Given the description of an element on the screen output the (x, y) to click on. 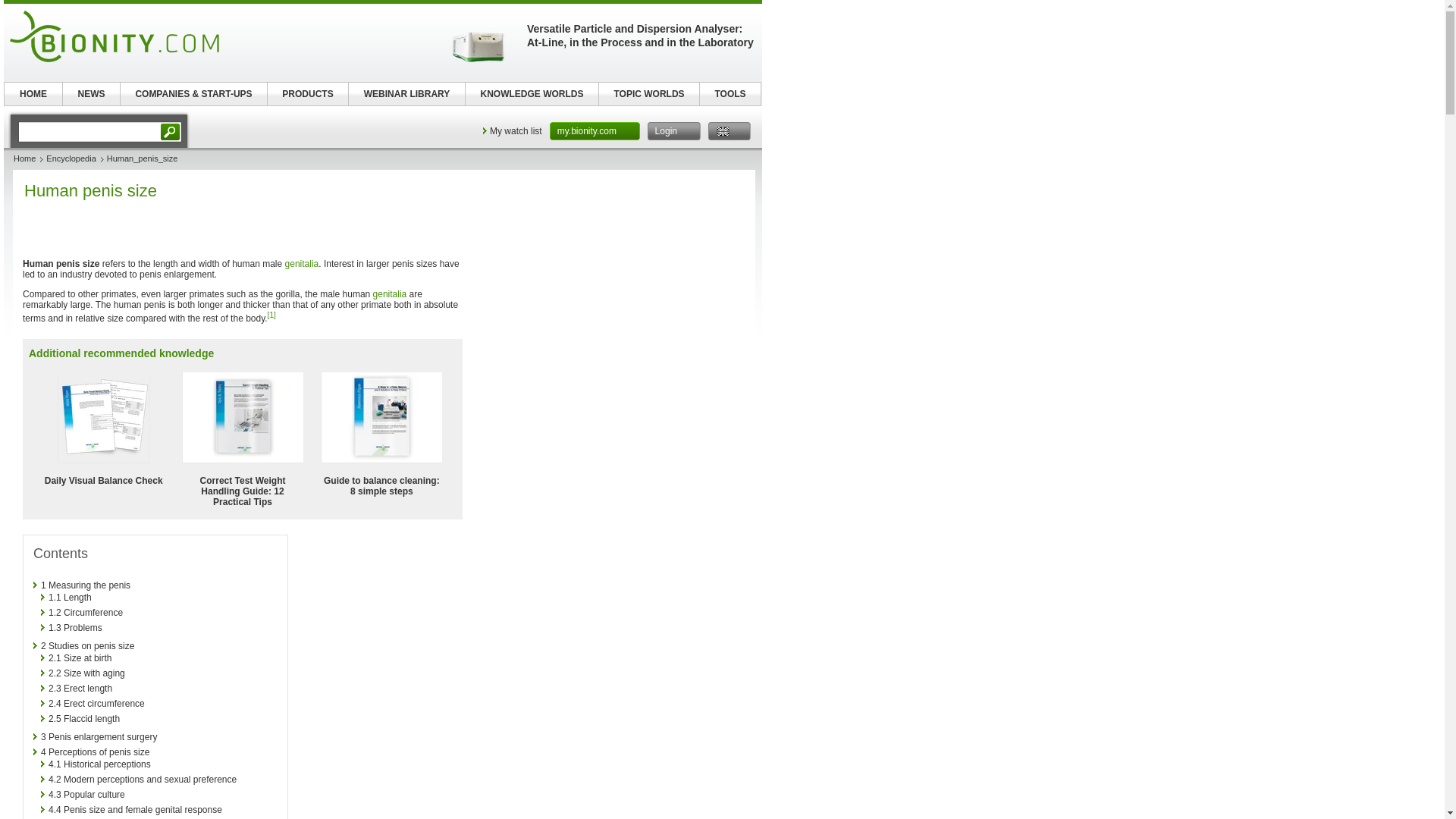
Correct Test Weight Handling Guide: 12 Practical Tips (242, 490)
4.2 Modern perceptions and sexual preference (141, 778)
3 Penis enlargement surgery (98, 737)
search (88, 131)
Home (23, 157)
genitalia (389, 294)
Encyclopedia (71, 157)
1.1 Length (69, 597)
Genitalia (301, 263)
Genitalia (389, 294)
2 Studies on penis size (86, 645)
Daily Visual Balance Check (103, 480)
4 Perceptions of penis size (94, 751)
go (171, 131)
1.2 Circumference (85, 612)
